Given the description of an element on the screen output the (x, y) to click on. 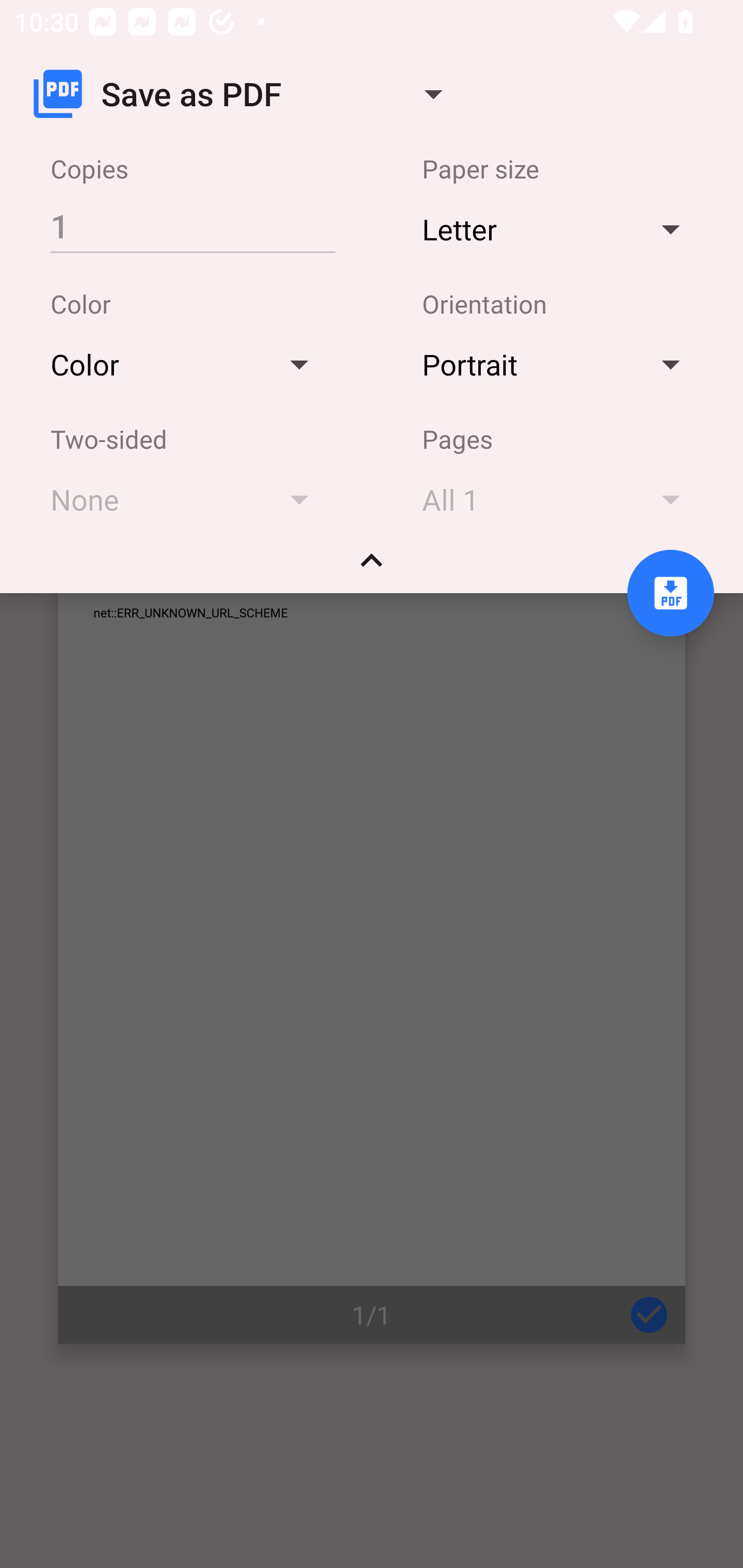
Save as PDF (245, 93)
1 (192, 225)
Letter (560, 228)
Color (189, 364)
Portrait (560, 364)
None (189, 499)
All 1 (560, 499)
Collapse handle (371, 567)
Save to PDF (670, 593)
